Given the description of an element on the screen output the (x, y) to click on. 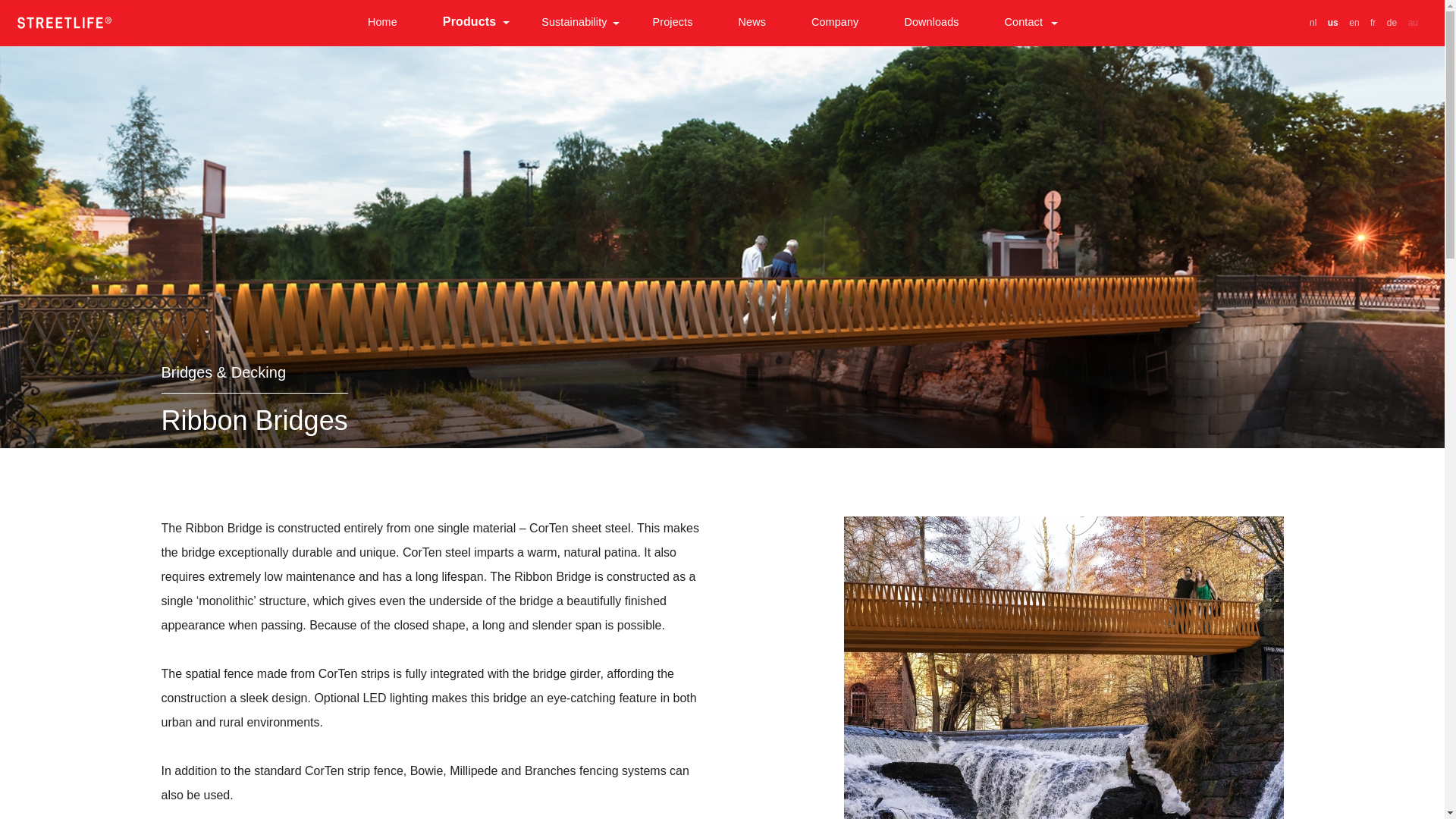
en (1353, 22)
Ribbon Bridges (1353, 22)
Home (382, 22)
Products (469, 22)
News (752, 22)
Company (834, 22)
Contact (1023, 22)
Downloads (930, 22)
Home (64, 18)
de (1391, 22)
